Given the description of an element on the screen output the (x, y) to click on. 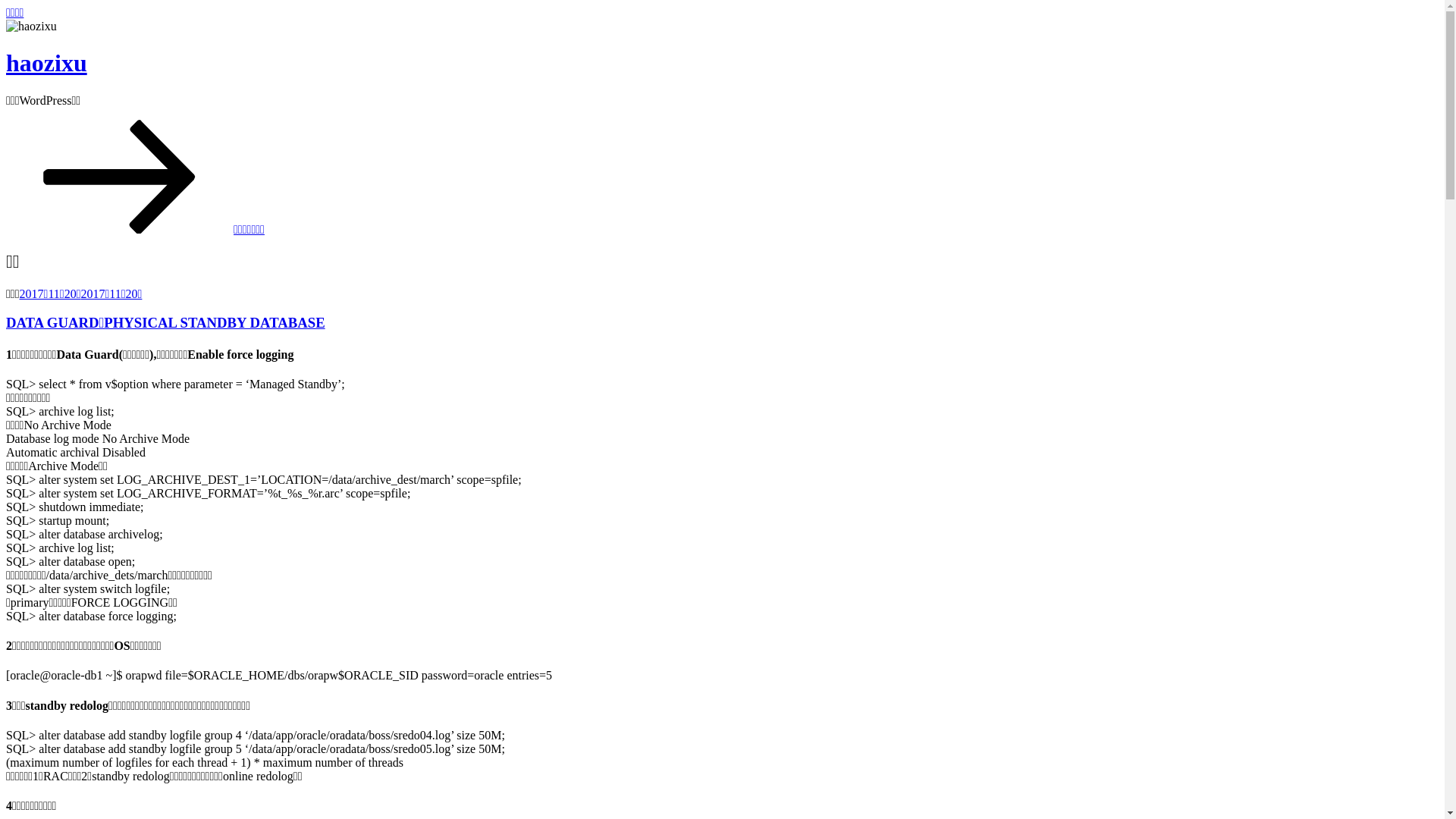
haozixu Element type: text (46, 62)
